Given the description of an element on the screen output the (x, y) to click on. 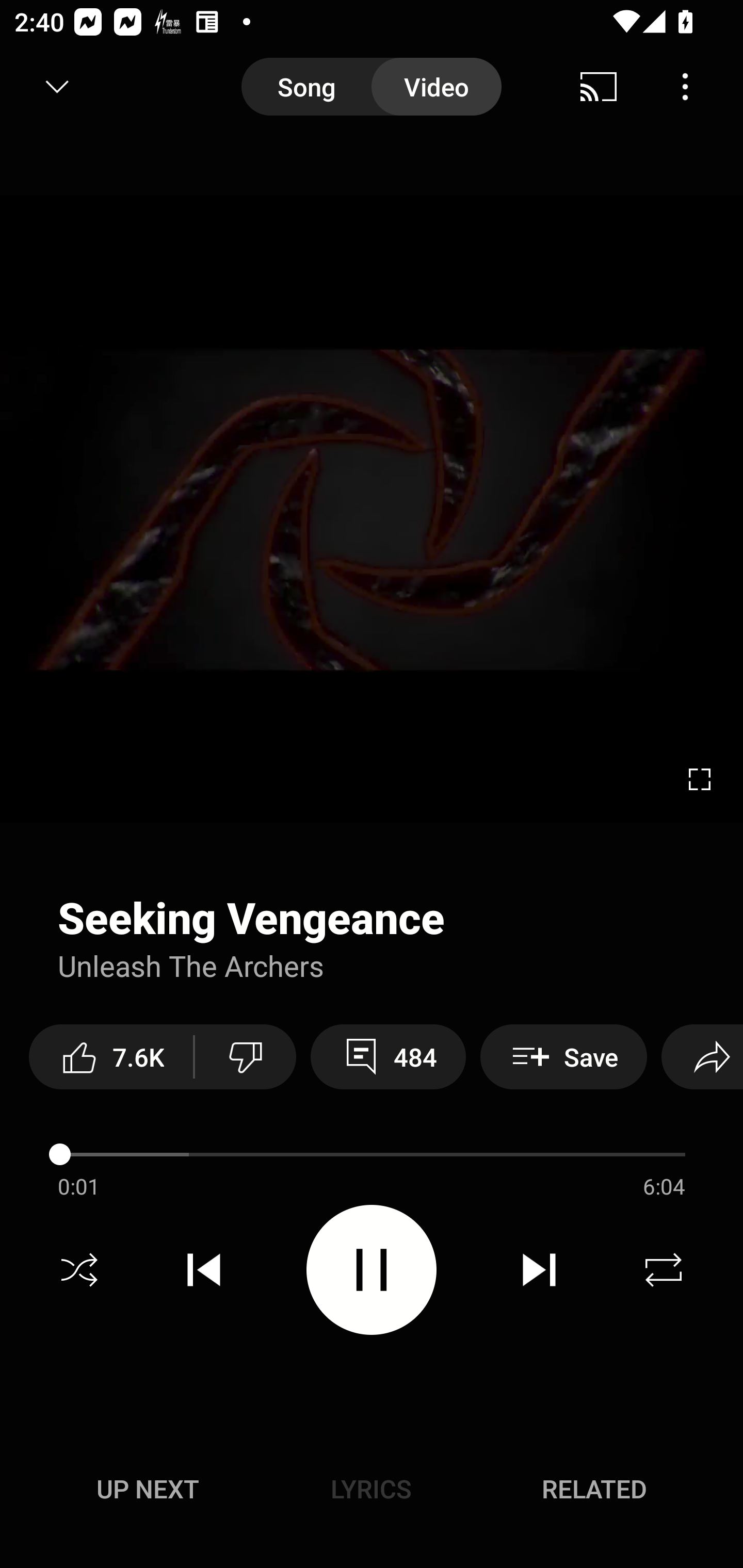
Minimize (57, 86)
Cast. Disconnected (598, 86)
Search (692, 86)
Enter fullscreen (699, 779)
Action menu (371, 960)
7.6K like this video along with 7,634 other people (110, 1056)
Dislike (245, 1056)
484 View 484 comments (387, 1056)
Save Save to playlist (563, 1056)
Share (702, 1056)
Pause video (371, 1269)
Shuffle off (79, 1269)
Previous track (203, 1269)
Next track (538, 1269)
Repeat off (663, 1269)
Up next UP NEXT Lyrics LYRICS Related RELATED (371, 1491)
Lyrics LYRICS (370, 1488)
Related RELATED (594, 1488)
